Given the description of an element on the screen output the (x, y) to click on. 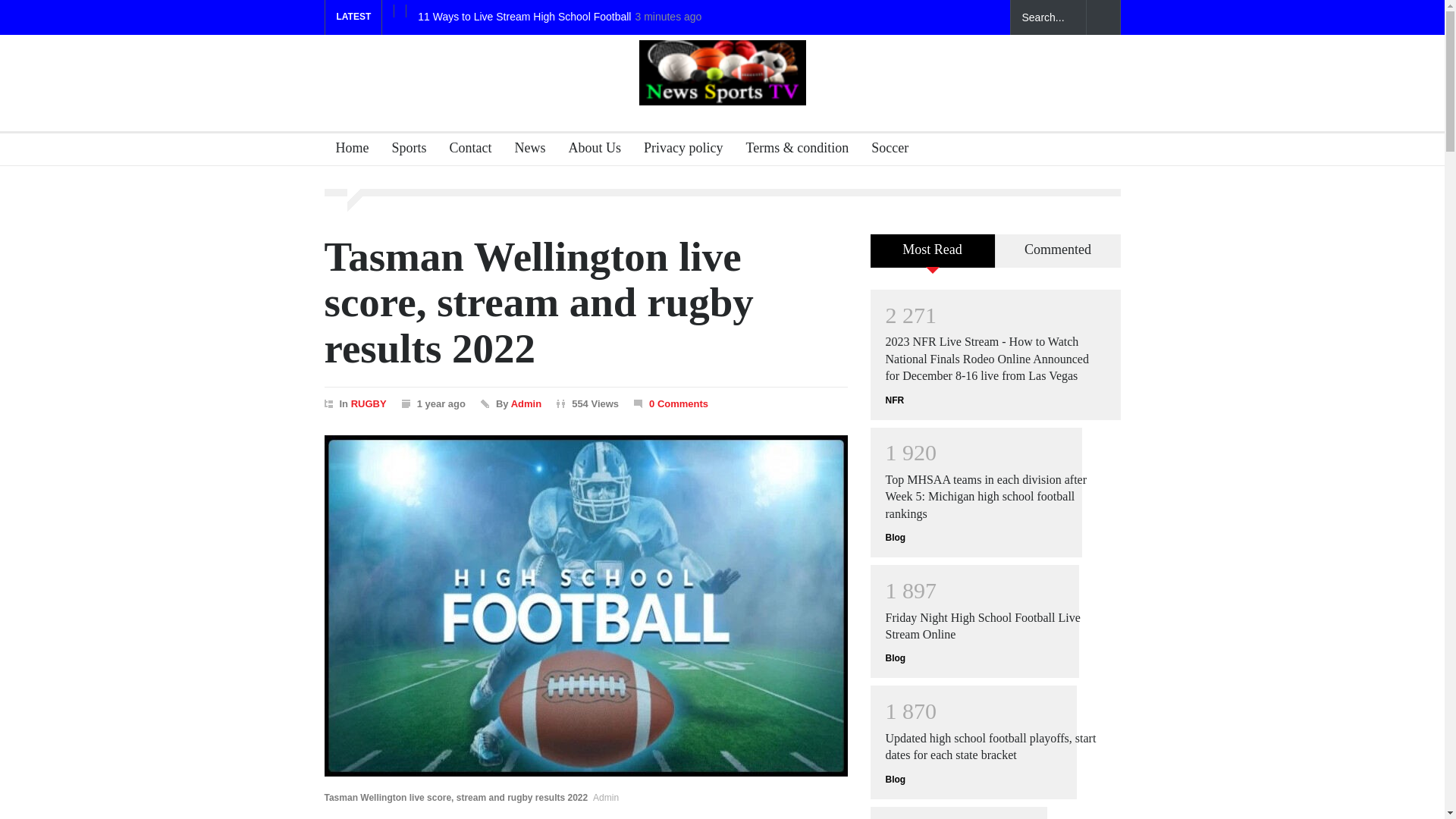
Search... (1048, 17)
High school football logo (722, 72)
Categories (403, 149)
envato (986, 16)
Search... (1048, 17)
Privacy policy (676, 149)
newssportstv (722, 92)
News (524, 149)
3 minutes ago (667, 16)
Contact (465, 149)
